Given the description of an element on the screen output the (x, y) to click on. 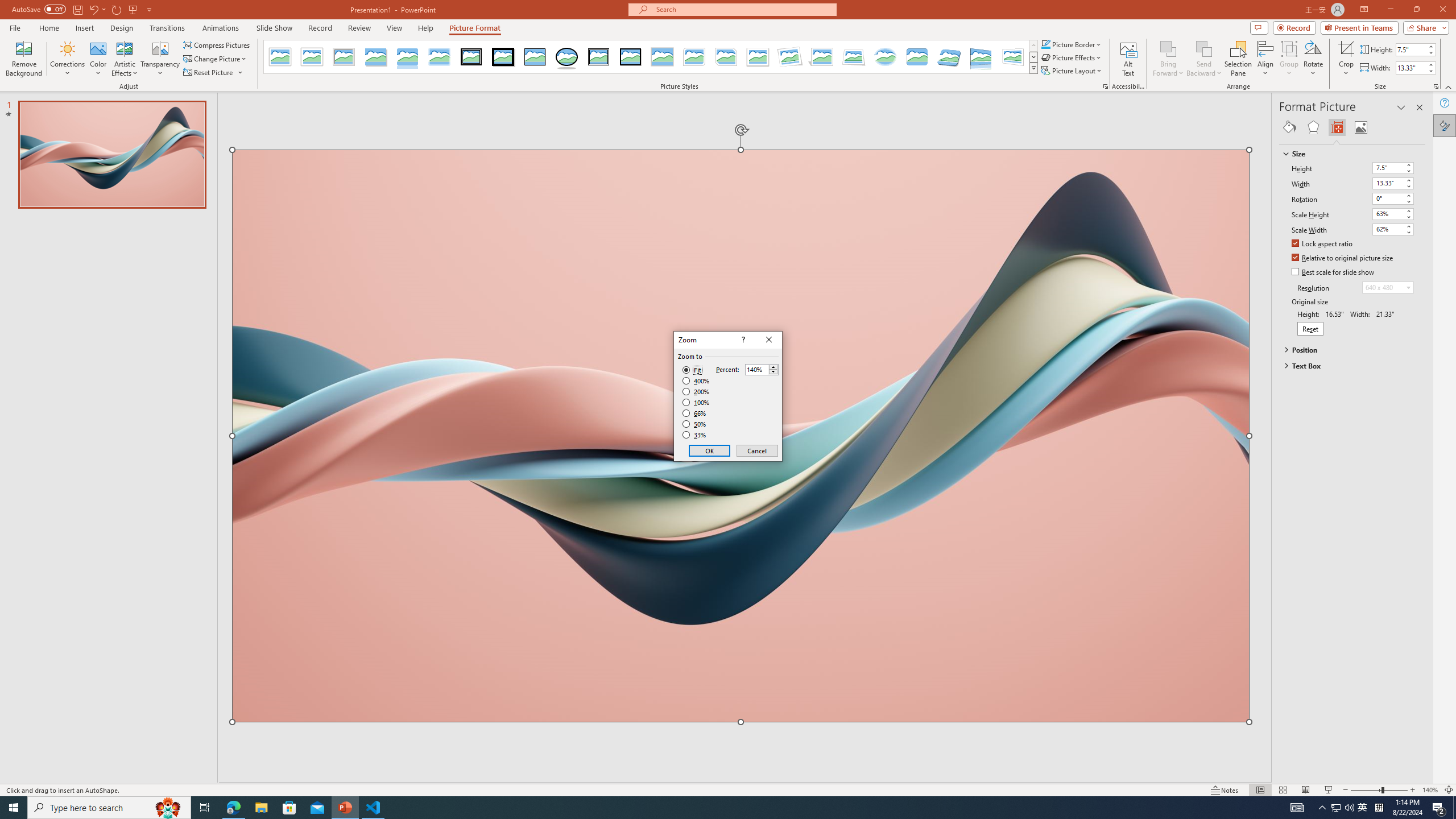
OK (709, 450)
Color (97, 58)
Fit (691, 370)
Perspective Shadow, White (821, 56)
AutomationID: PictureStylesGallery (650, 56)
Reset Picture (214, 72)
Lock aspect ratio (1322, 244)
Percent (756, 369)
